Given the description of an element on the screen output the (x, y) to click on. 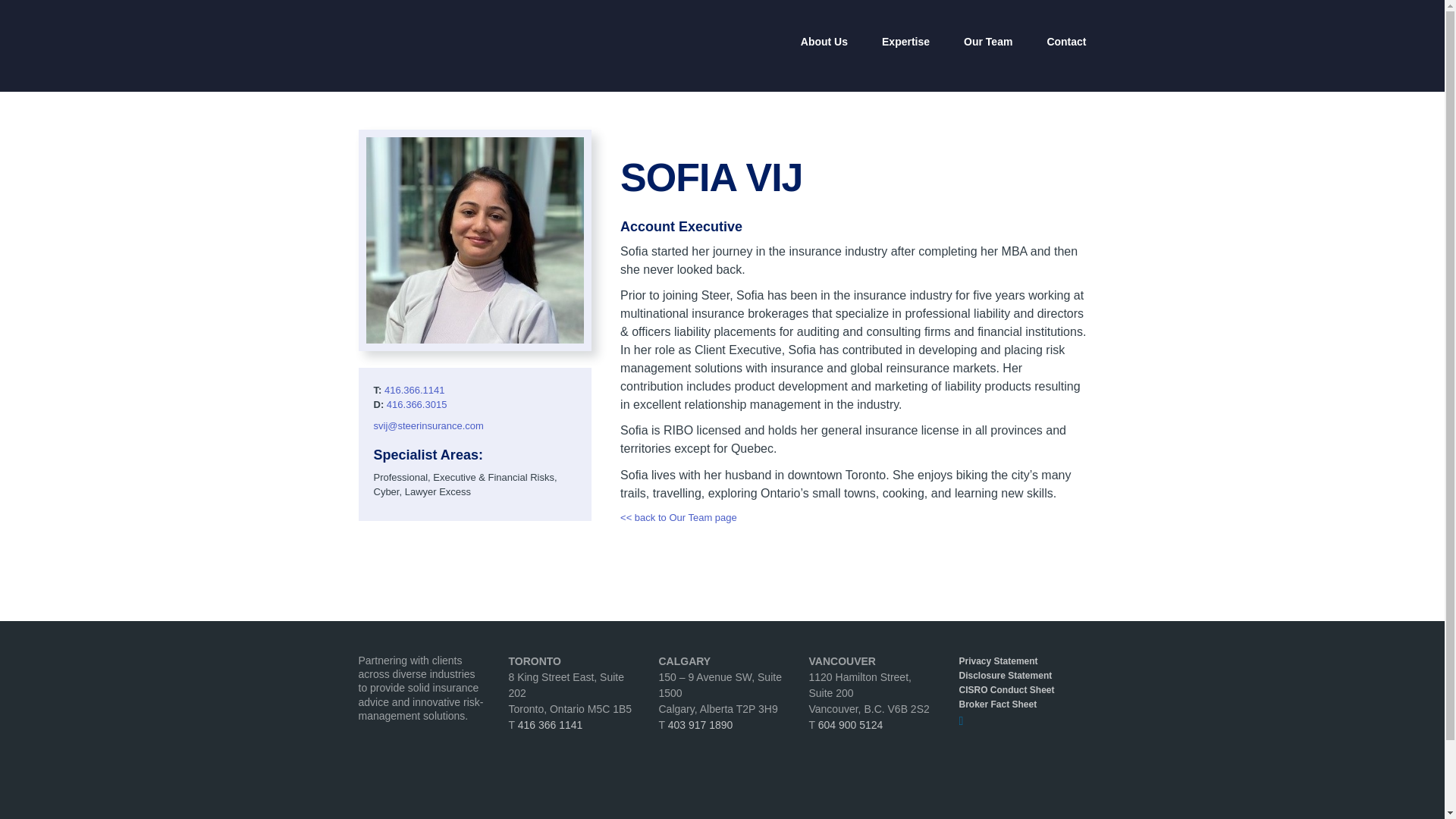
Privacy Statement (1021, 661)
416 366 1141 (550, 725)
Sofia 2 Cropped 3 (474, 240)
Disclosure Statement (1021, 676)
604 900 5124 (850, 725)
403 917 1890 (700, 725)
Broker Fact Sheet (1021, 704)
CISRO Conduct Sheet (1021, 690)
416.366.3015 (416, 404)
416.366.1141 (414, 389)
